Given the description of an element on the screen output the (x, y) to click on. 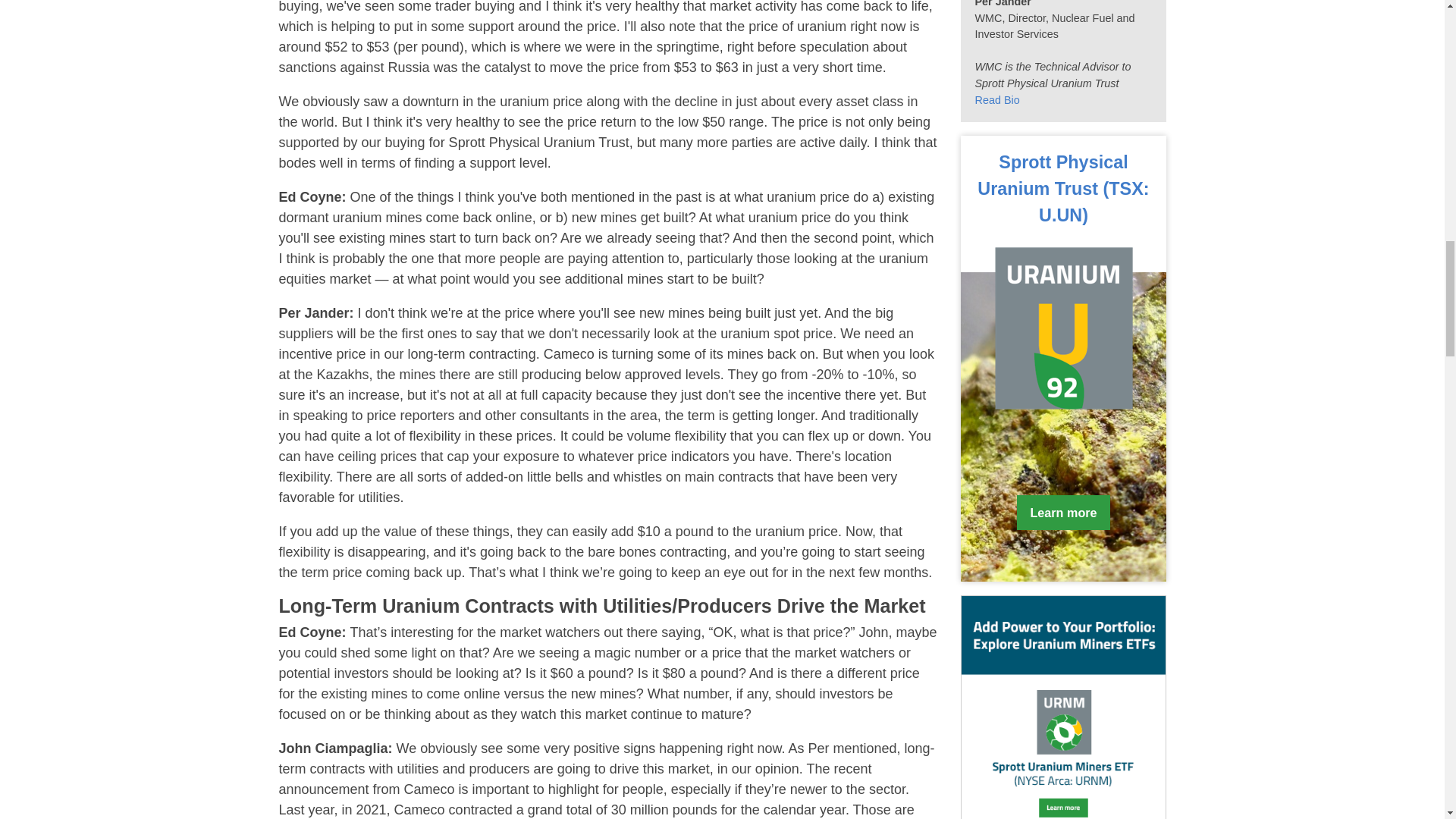
Uranium (1062, 188)
Uranium (1062, 512)
Uranium (1063, 327)
